Given the description of an element on the screen output the (x, y) to click on. 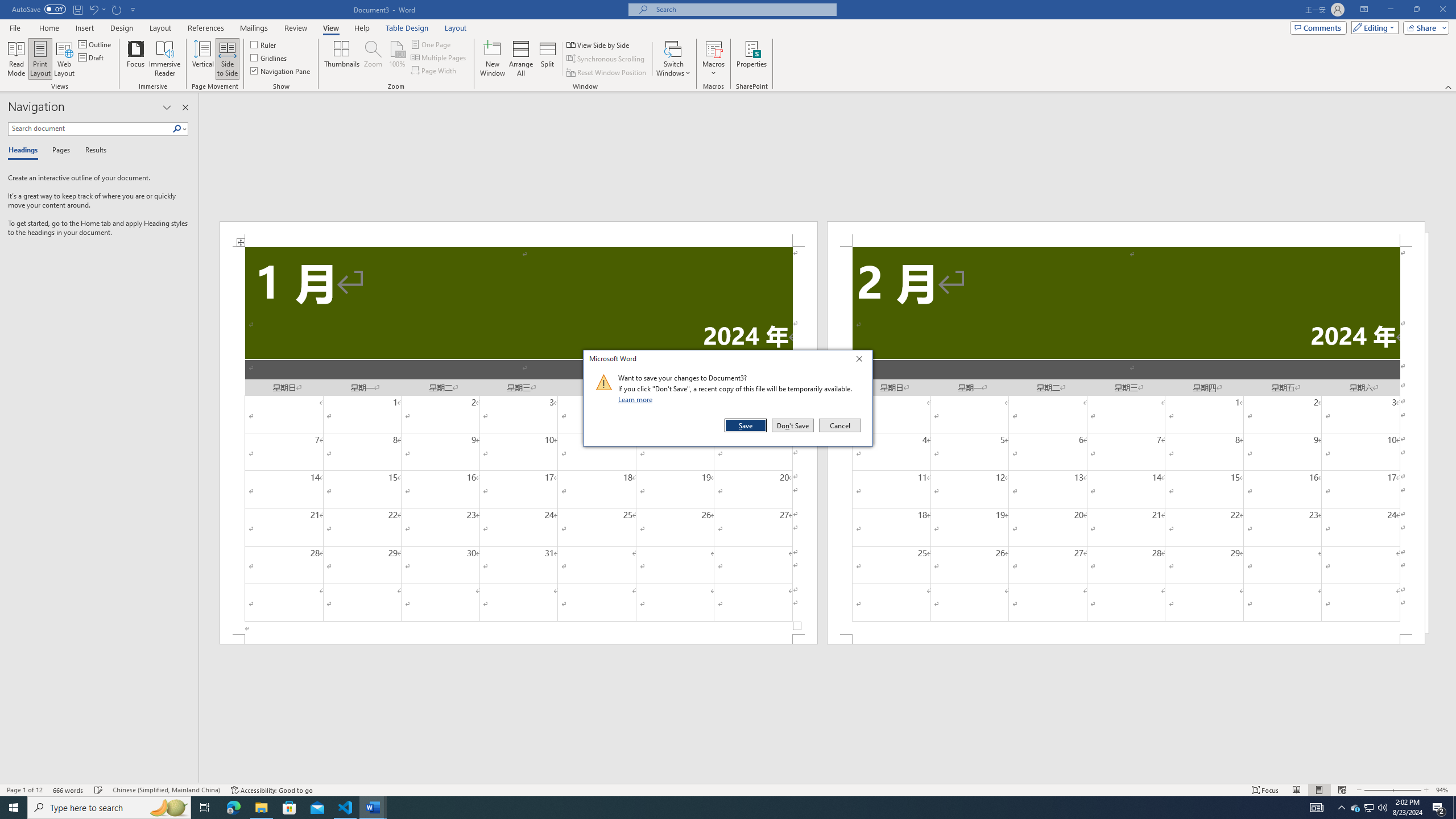
One Page (1368, 807)
View Macros (431, 44)
Synchronous Scrolling (713, 48)
AutomationID: 4105 (605, 58)
Accessibility Checker Accessibility: Good to go (1316, 807)
Learn more (271, 790)
Undo Increase Indent (636, 399)
Outline (92, 9)
File Explorer - 1 running window (95, 44)
